Given the description of an element on the screen output the (x, y) to click on. 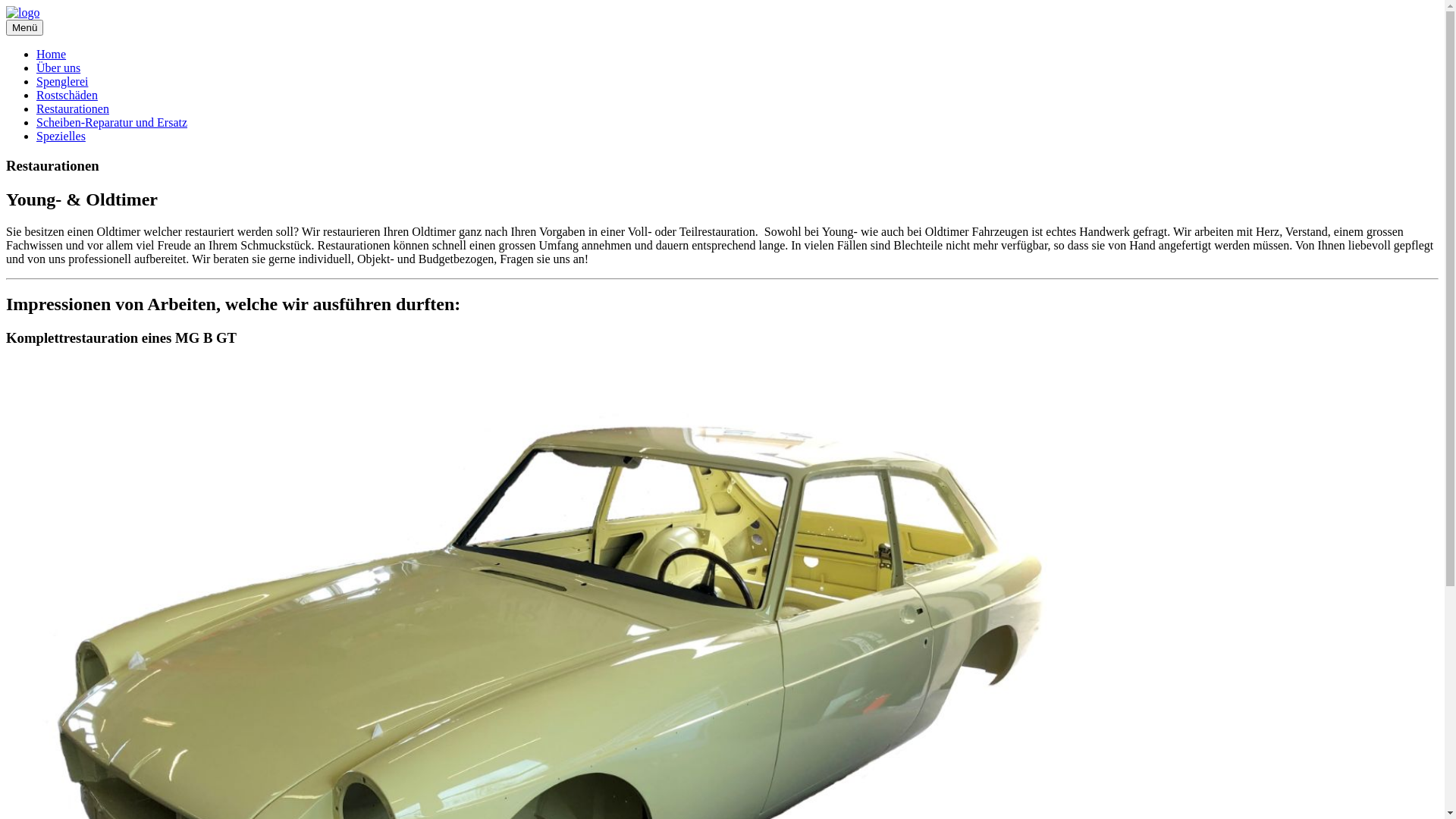
logo Element type: hover (22, 12)
Restaurationen Element type: text (72, 108)
Spezielles Element type: text (60, 135)
Home Element type: text (50, 53)
Scheiben-Reparatur und Ersatz Element type: text (111, 122)
Spenglerei Element type: text (61, 81)
